Given the description of an element on the screen output the (x, y) to click on. 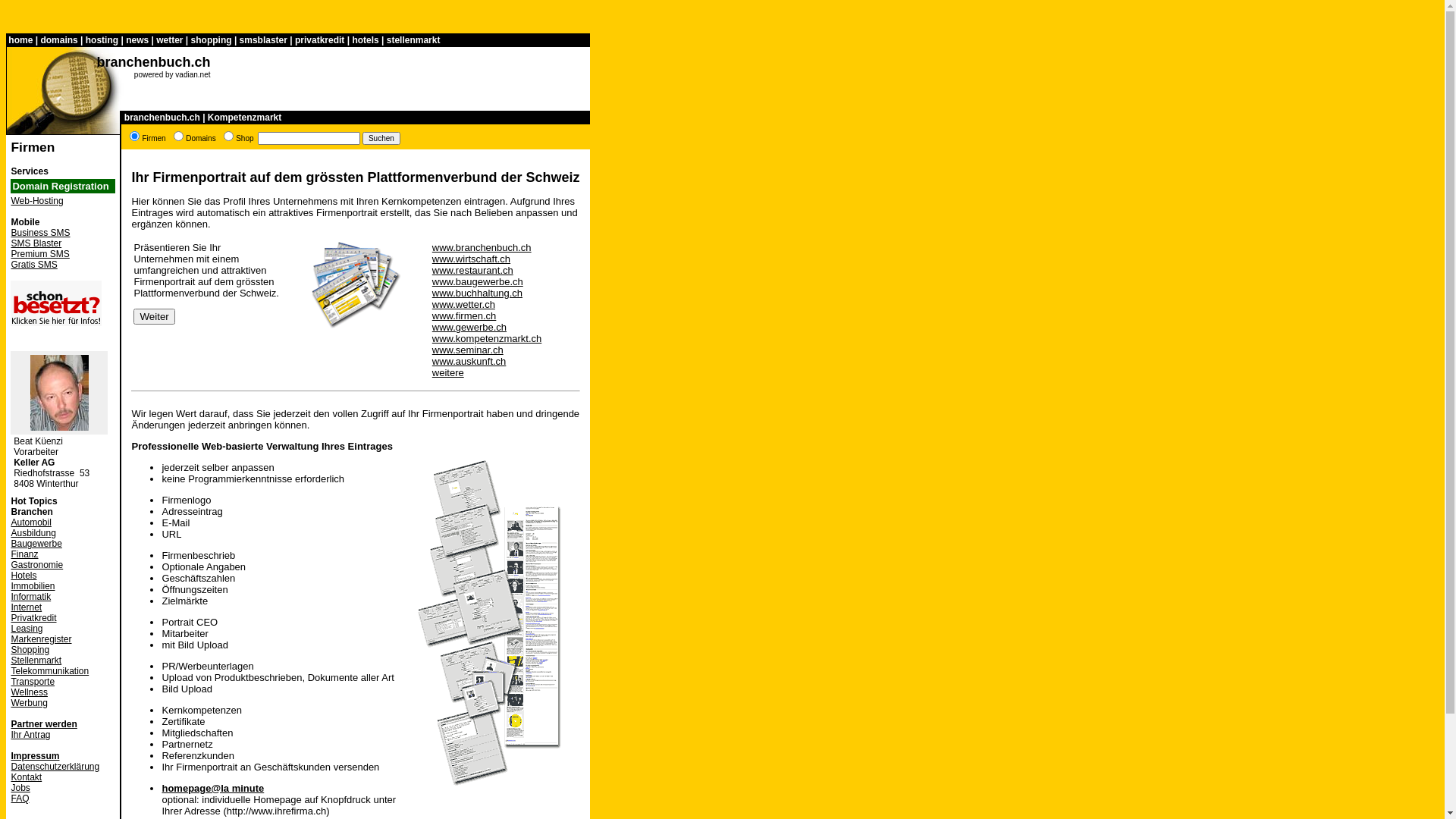
FAQ Element type: text (19, 798)
Keller AG Element type: text (33, 462)
Baugewerbe Element type: text (35, 543)
branchenbuch.ch Element type: text (162, 117)
Premium SMS Element type: text (39, 253)
www.restaurant.ch Element type: text (472, 270)
homepage@la minute Element type: text (212, 787)
Shopping Element type: text (29, 649)
privatkredit Element type: text (319, 39)
www.wirtschaft.ch Element type: text (471, 258)
Leasing Element type: text (26, 628)
Finanz Element type: text (23, 554)
Web-Hosting Element type: text (36, 200)
Ihr Antrag Element type: text (30, 734)
Impressum Element type: text (34, 755)
weitere Element type: text (448, 372)
Werbung Element type: text (28, 702)
Hotels Element type: text (23, 575)
Kontakt Element type: text (25, 776)
powered by vadian.net Element type: text (172, 74)
www.branchenbuch.ch Element type: text (481, 247)
Gastronomie Element type: text (36, 564)
Jobs Element type: text (19, 787)
home Element type: text (20, 39)
Transporte Element type: text (32, 681)
www.buchhaltung.ch Element type: text (477, 292)
wetter Element type: text (169, 39)
Markenregister Element type: text (40, 638)
Suchen Element type: text (381, 137)
Internet Element type: text (25, 607)
www.baugewerbe.ch Element type: text (477, 281)
hotels Element type: text (364, 39)
stellenmarkt Element type: text (413, 39)
Automobil Element type: text (30, 522)
branchenbuch.ch Element type: text (153, 61)
hosting Element type: text (101, 39)
smsblaster Element type: text (263, 39)
Business SMS Element type: text (39, 232)
SMS Blaster Element type: text (35, 243)
www.auskunft.ch Element type: text (469, 361)
Partner werden Element type: text (43, 723)
Domain Registration Element type: text (60, 185)
www.firmen.ch Element type: text (464, 315)
Informatik Element type: text (30, 596)
Firmen Element type: text (32, 146)
Gratis SMS Element type: text (33, 264)
Wellness Element type: text (28, 692)
www.gewerbe.ch Element type: text (469, 326)
domains Element type: text (58, 39)
Ausbildung Element type: text (32, 532)
Telekommunikation Element type: text (49, 670)
www.seminar.ch Element type: text (467, 349)
www.wetter.ch Element type: text (463, 304)
www.kompetenzmarkt.ch Element type: text (487, 338)
shopping Element type: text (211, 39)
Immobilien Element type: text (32, 585)
Privatkredit Element type: text (33, 617)
news Element type: text (136, 39)
Stellenmarkt Element type: text (35, 660)
